Given the description of an element on the screen output the (x, y) to click on. 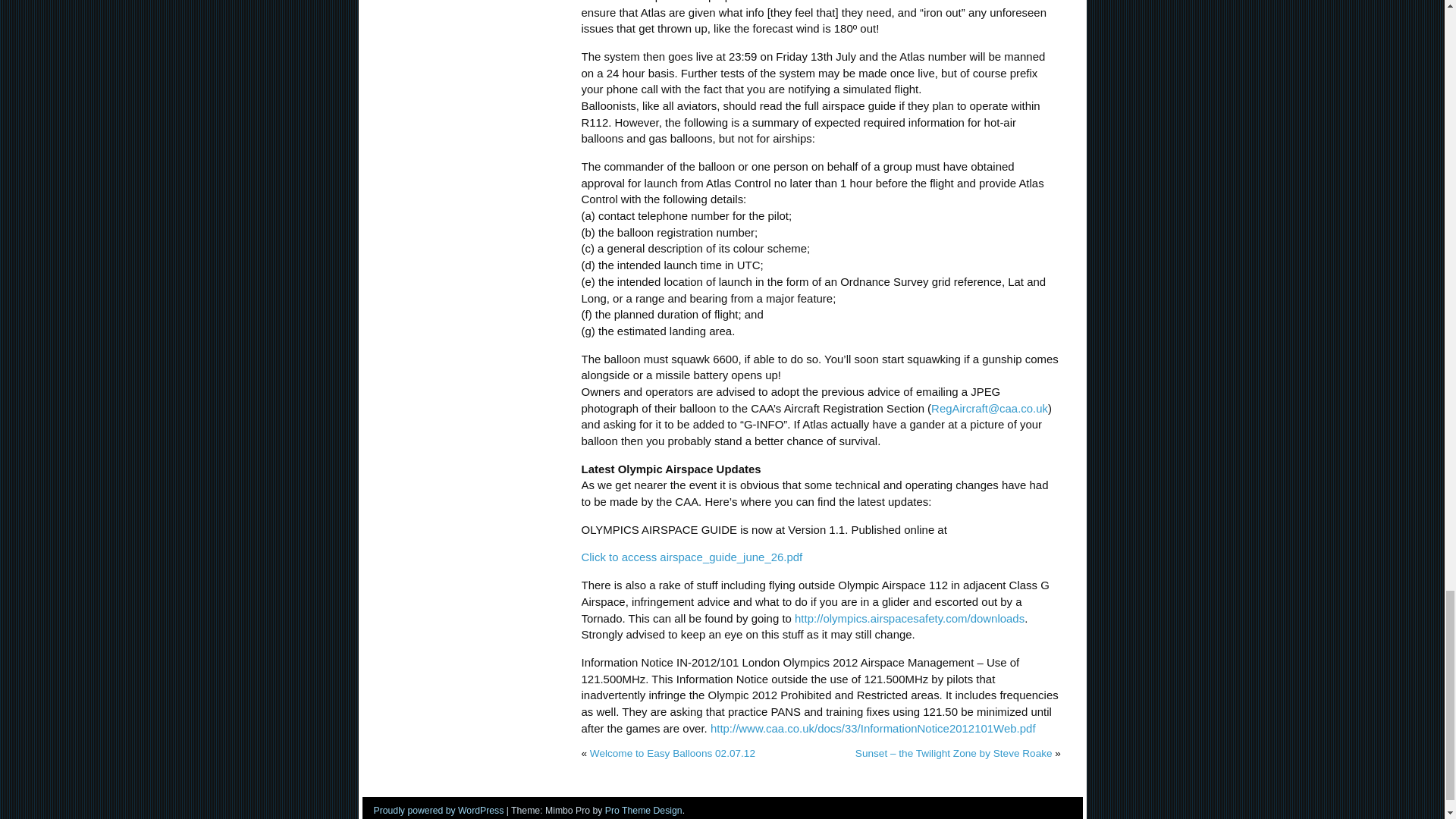
Pro Theme Design (643, 810)
Proudly powered by WordPress (437, 810)
Welcome to Easy Balloons 02.07.12 (672, 753)
A Semantic Personal Publishing Platform (437, 810)
